Given the description of an element on the screen output the (x, y) to click on. 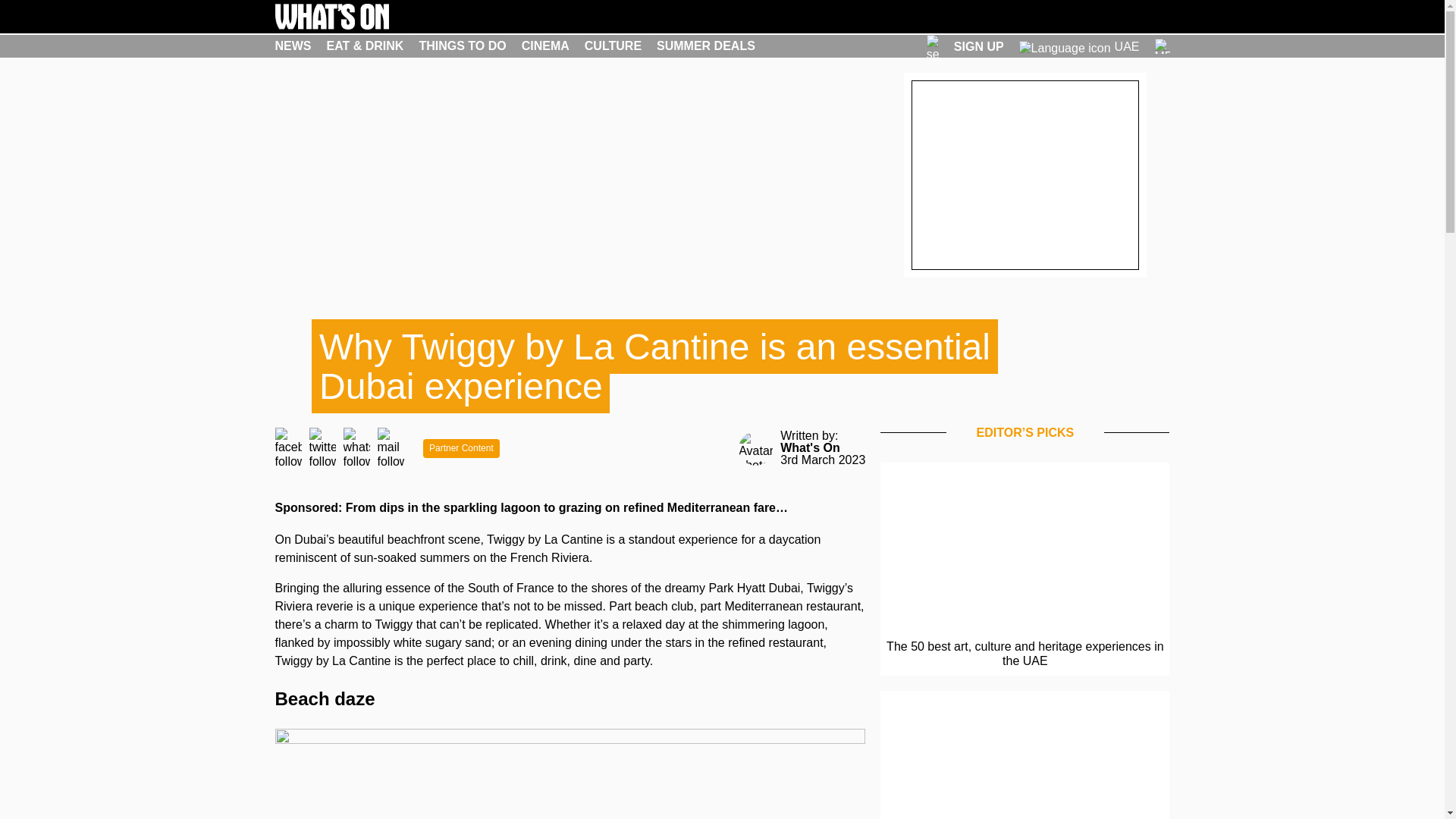
NEWS (293, 45)
CINEMA (545, 45)
SUMMER DEALS (705, 45)
SIGN UP (978, 45)
THINGS TO DO (462, 45)
CULTURE (613, 45)
